Given the description of an element on the screen output the (x, y) to click on. 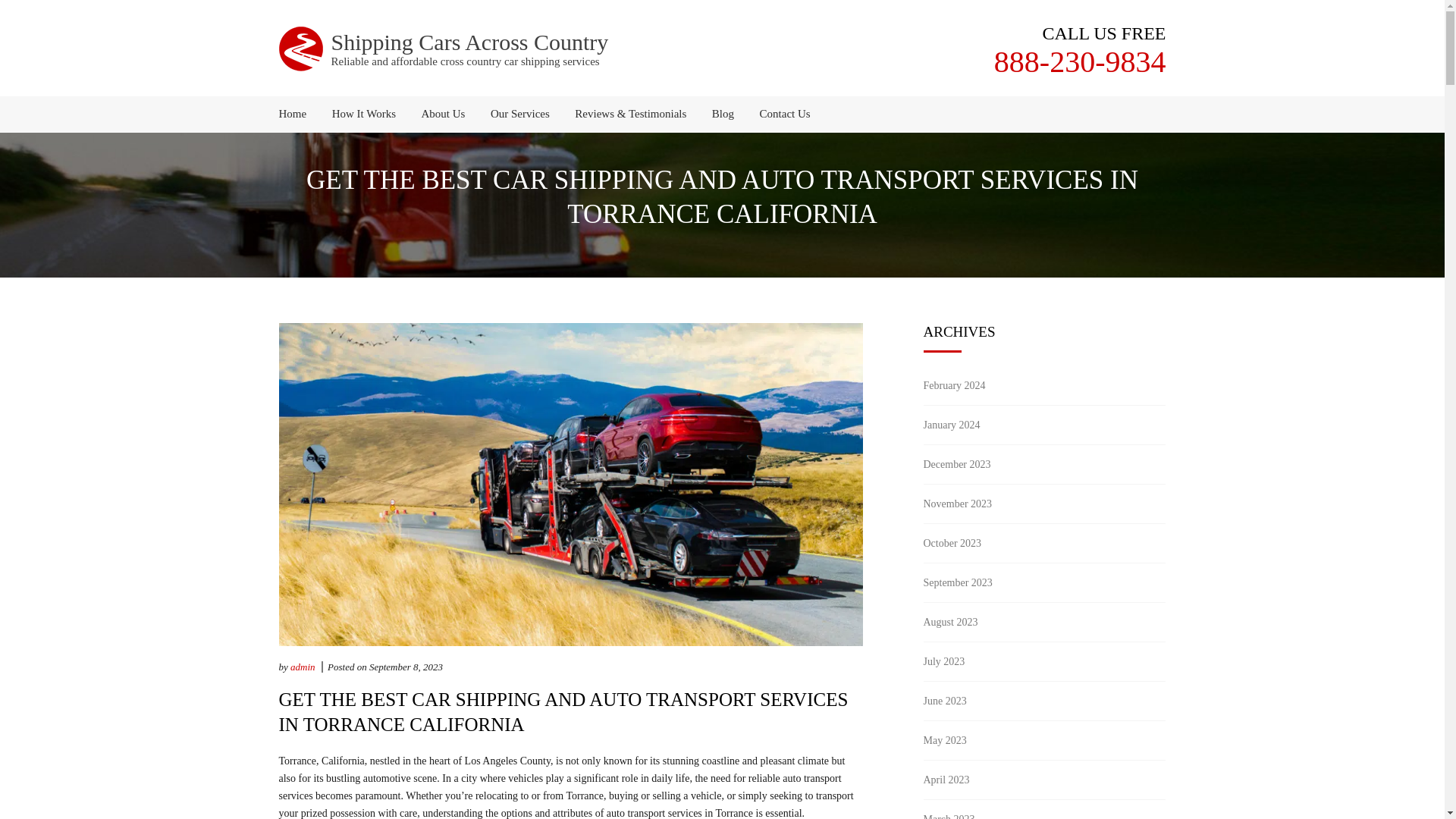
How It Works (363, 114)
November 2023 (957, 503)
Home (298, 114)
December 2023 (957, 464)
Posts by admin (302, 666)
January 2024 (951, 424)
Blog (722, 114)
Our Services (519, 114)
admin (302, 666)
